Given the description of an element on the screen output the (x, y) to click on. 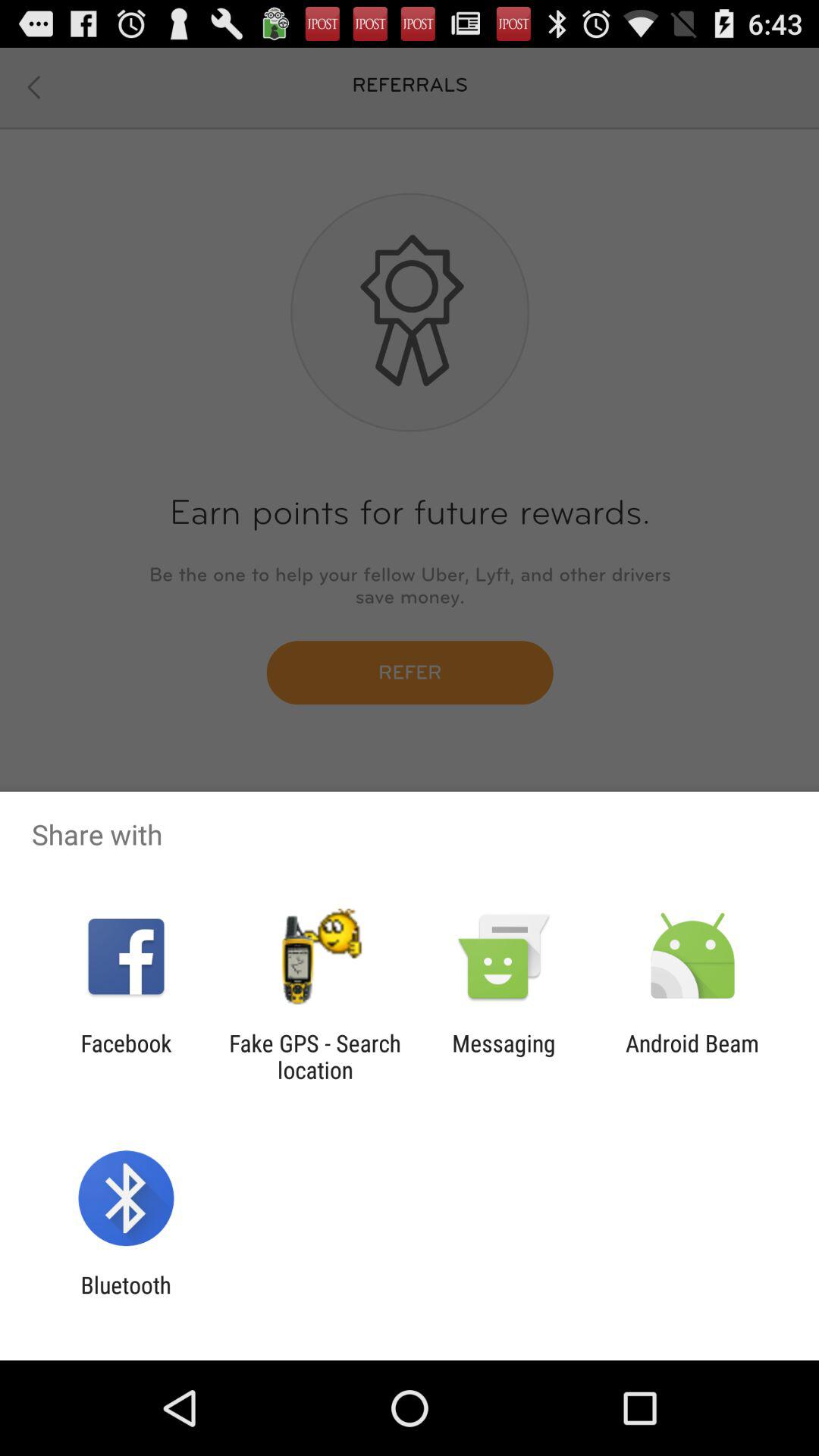
turn off messaging app (503, 1056)
